Given the description of an element on the screen output the (x, y) to click on. 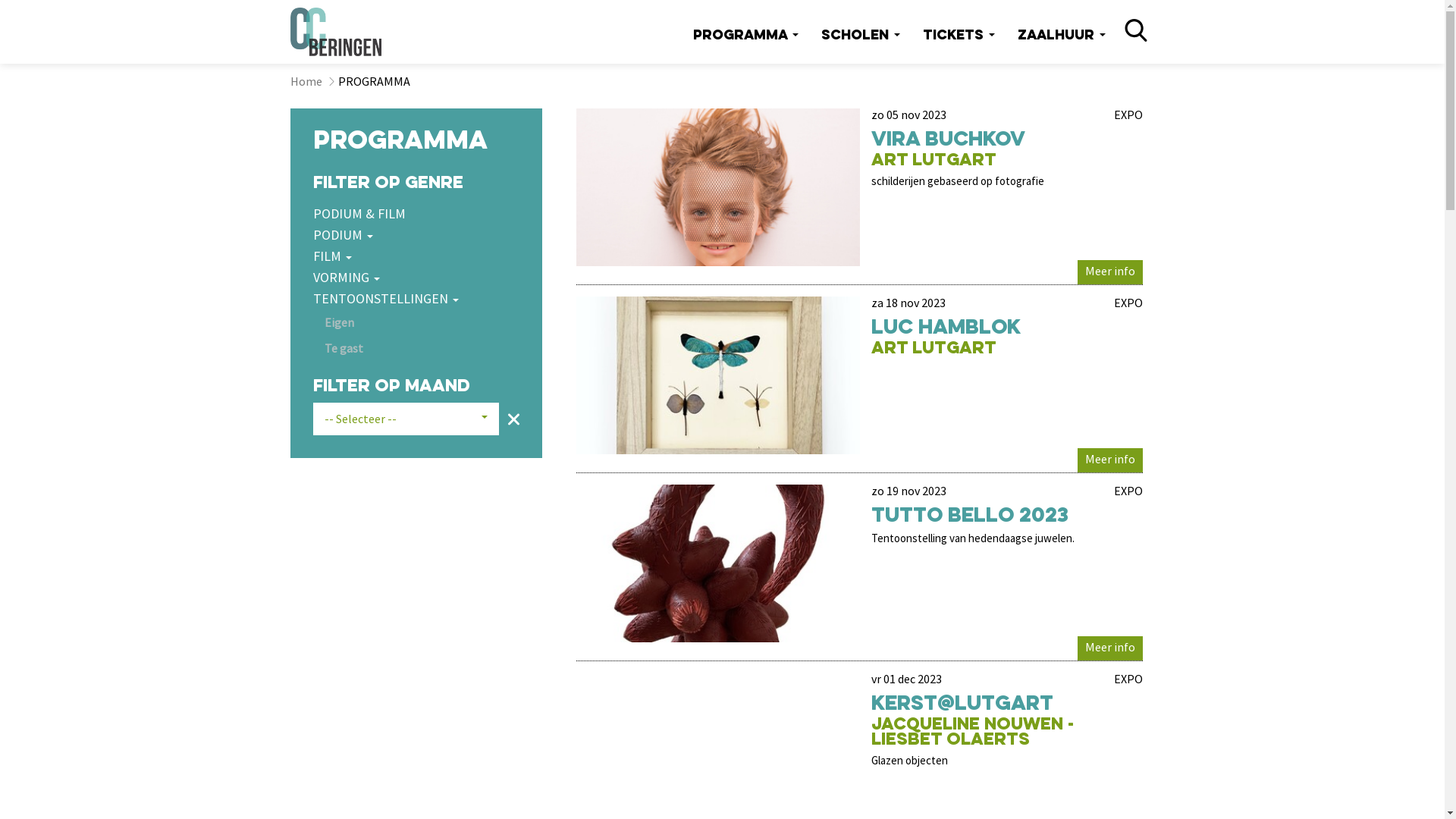
Zaalhuur Element type: text (1060, 35)
Meer info Element type: text (1109, 272)
FILM Element type: text (415, 256)
TICKETS Element type: text (958, 35)
VORMING Element type: text (415, 277)
TENTOONSTELLINGEN Element type: text (415, 298)
Te gast Element type: text (350, 347)
Eigen Element type: text (350, 322)
PODIUM Element type: text (415, 234)
Meer info Element type: text (1109, 648)
PODIUM & FILM Element type: text (415, 213)
za 18 nov 2023
EXPO
LUC HAMBLOK
ART LUTGART Element type: text (859, 372)
PROGRAMMA Element type: text (744, 35)
SCHOLEN Element type: text (860, 35)
Home Element type: text (312, 80)
-- Selecteer -- Element type: text (405, 418)
Meer info Element type: text (1109, 460)
